Given the description of an element on the screen output the (x, y) to click on. 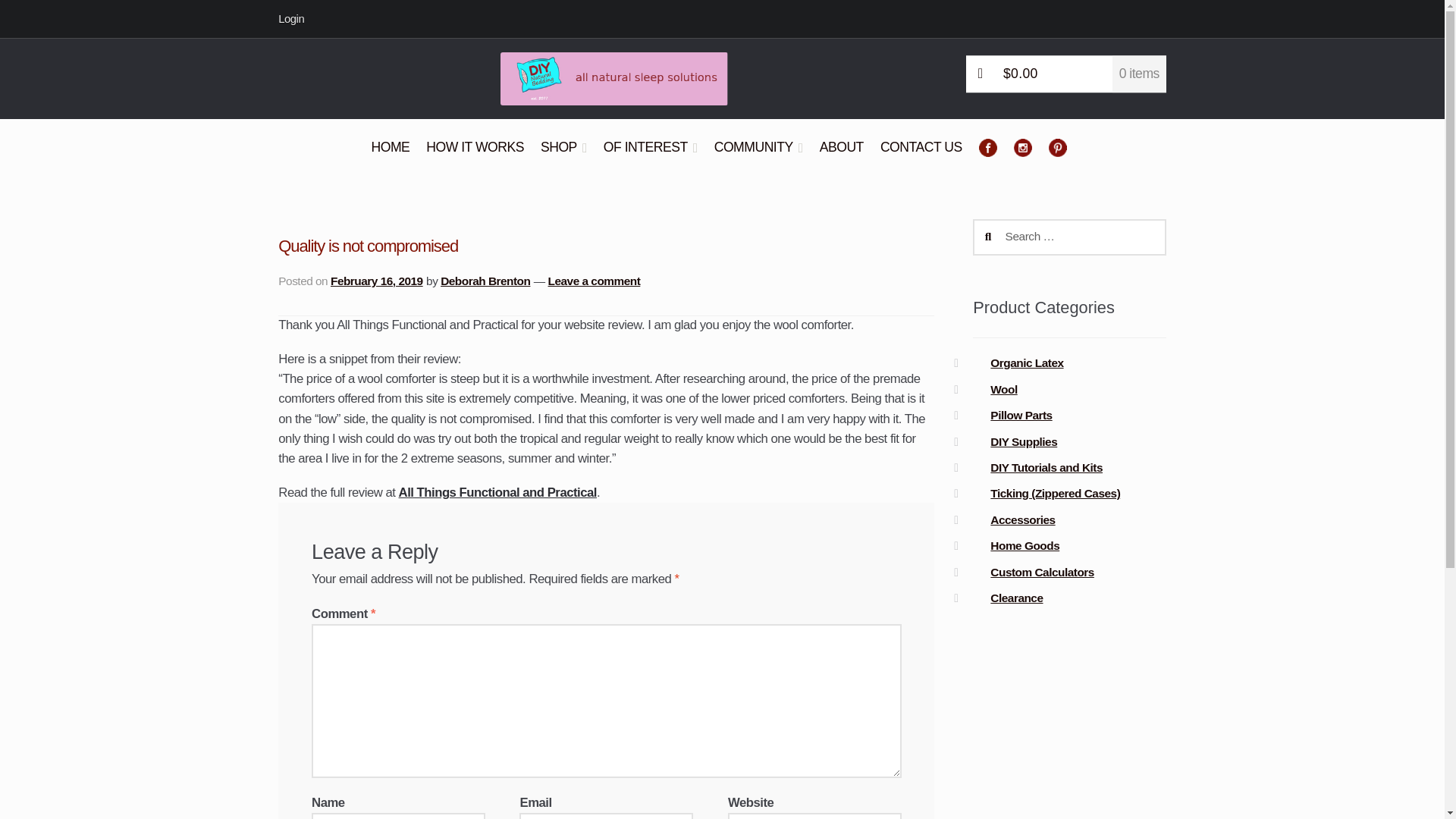
OF INTEREST (649, 155)
HOW IT WORKS (475, 155)
Login (296, 18)
Search (989, 227)
Search (989, 227)
View your shopping cart (1066, 74)
SHOP (563, 155)
HOME (390, 155)
